Given the description of an element on the screen output the (x, y) to click on. 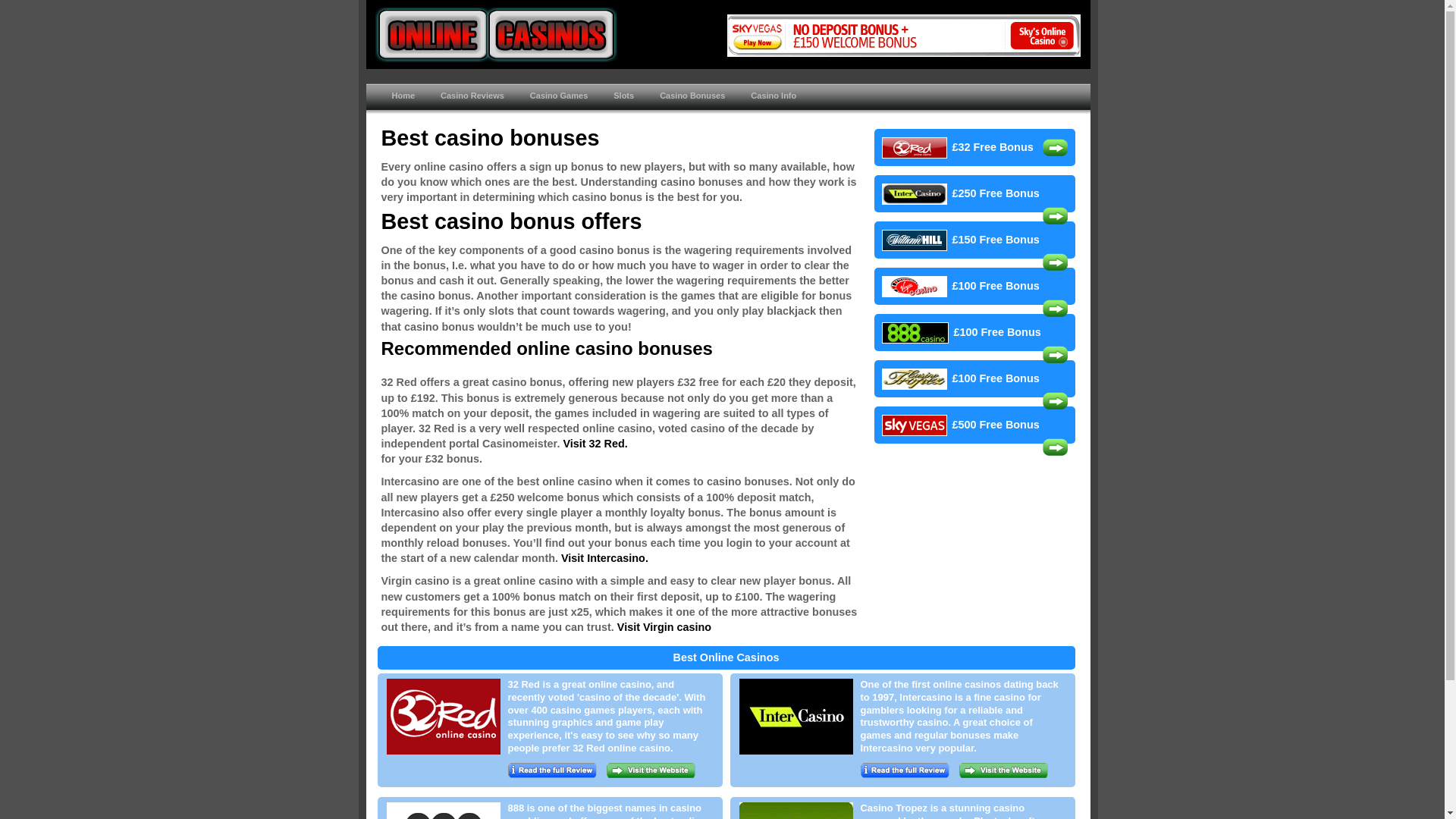
Slots (621, 98)
Visit 32 Red. (594, 443)
Home (401, 98)
Visit Intercasino. (603, 558)
Virgin Casino (664, 626)
Casino Games (556, 98)
Intercasino (603, 558)
Visit Virgin casino (664, 626)
Casino Bonuses (690, 98)
Casino Reviews (470, 98)
32 Red (594, 443)
